Given the description of an element on the screen output the (x, y) to click on. 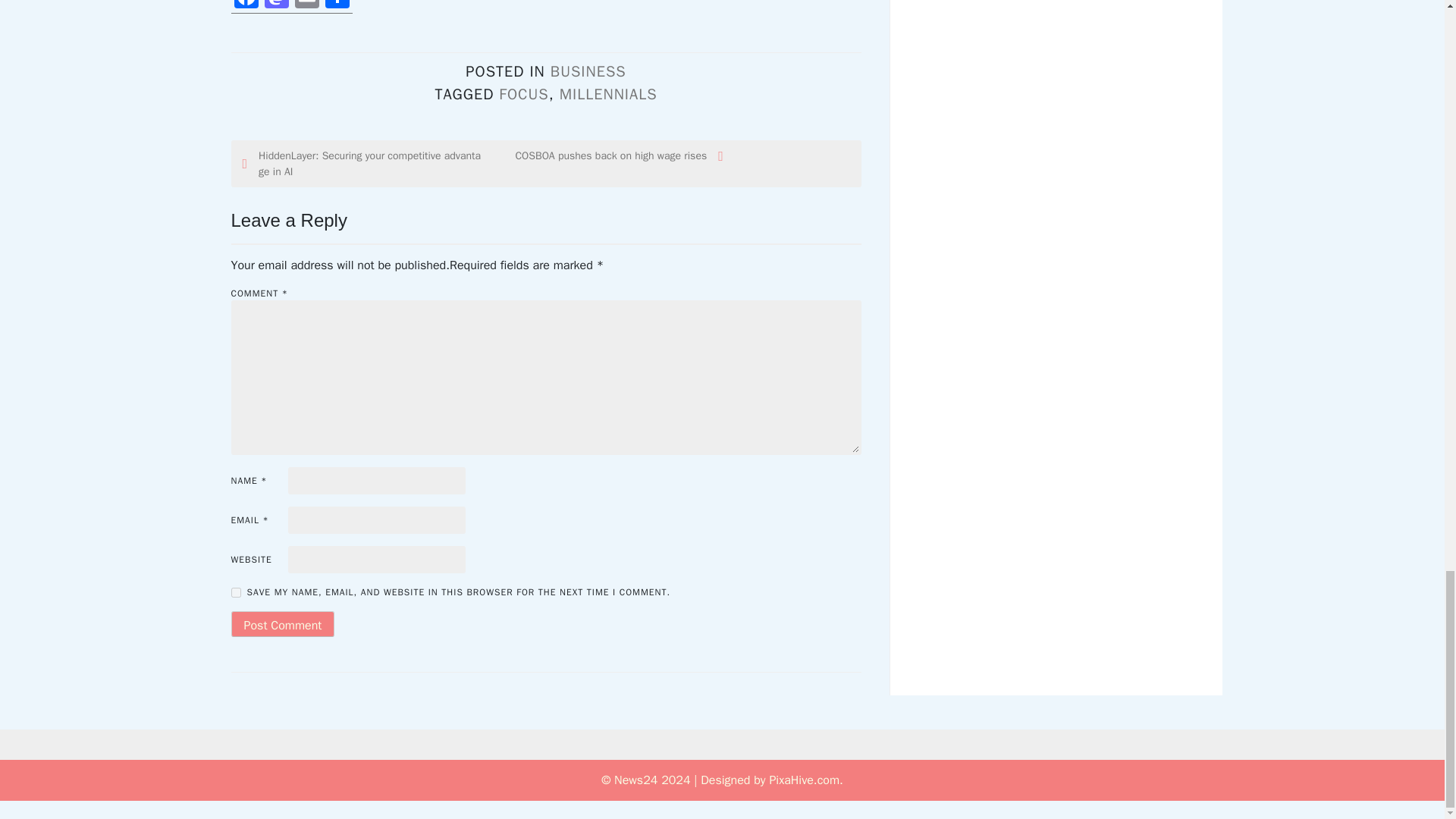
BUSINESS (588, 71)
MILLENNIALS (608, 94)
Mastodon (275, 6)
HiddenLayer: Securing your competitive advantage in AI (363, 163)
yes (235, 592)
Post Comment (282, 623)
Facebook (245, 6)
PixaHive.com (804, 780)
Email (306, 6)
Mastodon (275, 6)
